Given the description of an element on the screen output the (x, y) to click on. 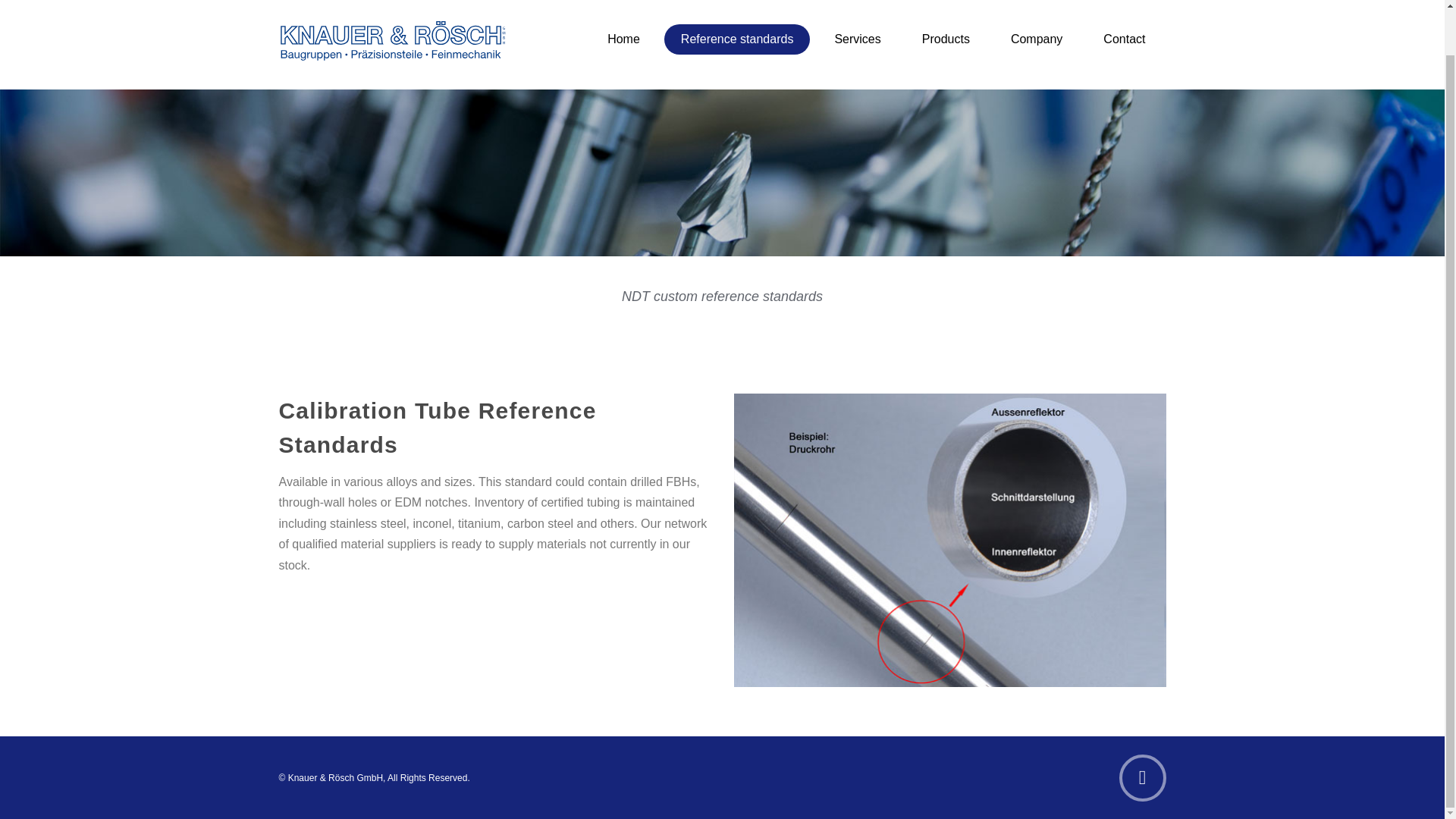
Home (623, 39)
Products (946, 39)
Services (856, 39)
Contact (1123, 39)
Reference standards (736, 39)
Leistungen (736, 39)
Home (623, 39)
Company (1036, 39)
Services (856, 39)
